Given the description of an element on the screen output the (x, y) to click on. 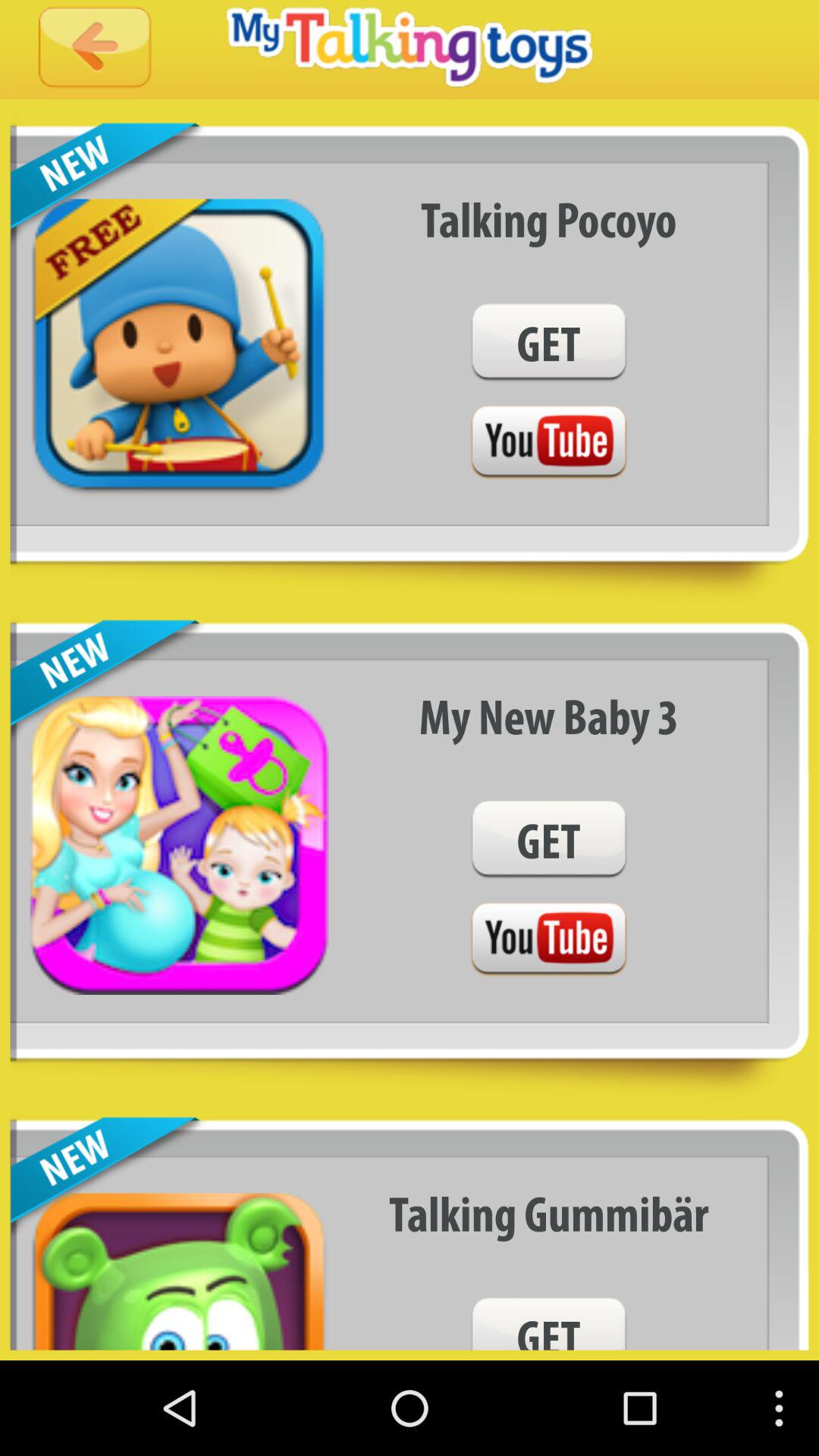
youtube (548, 442)
